Given the description of an element on the screen output the (x, y) to click on. 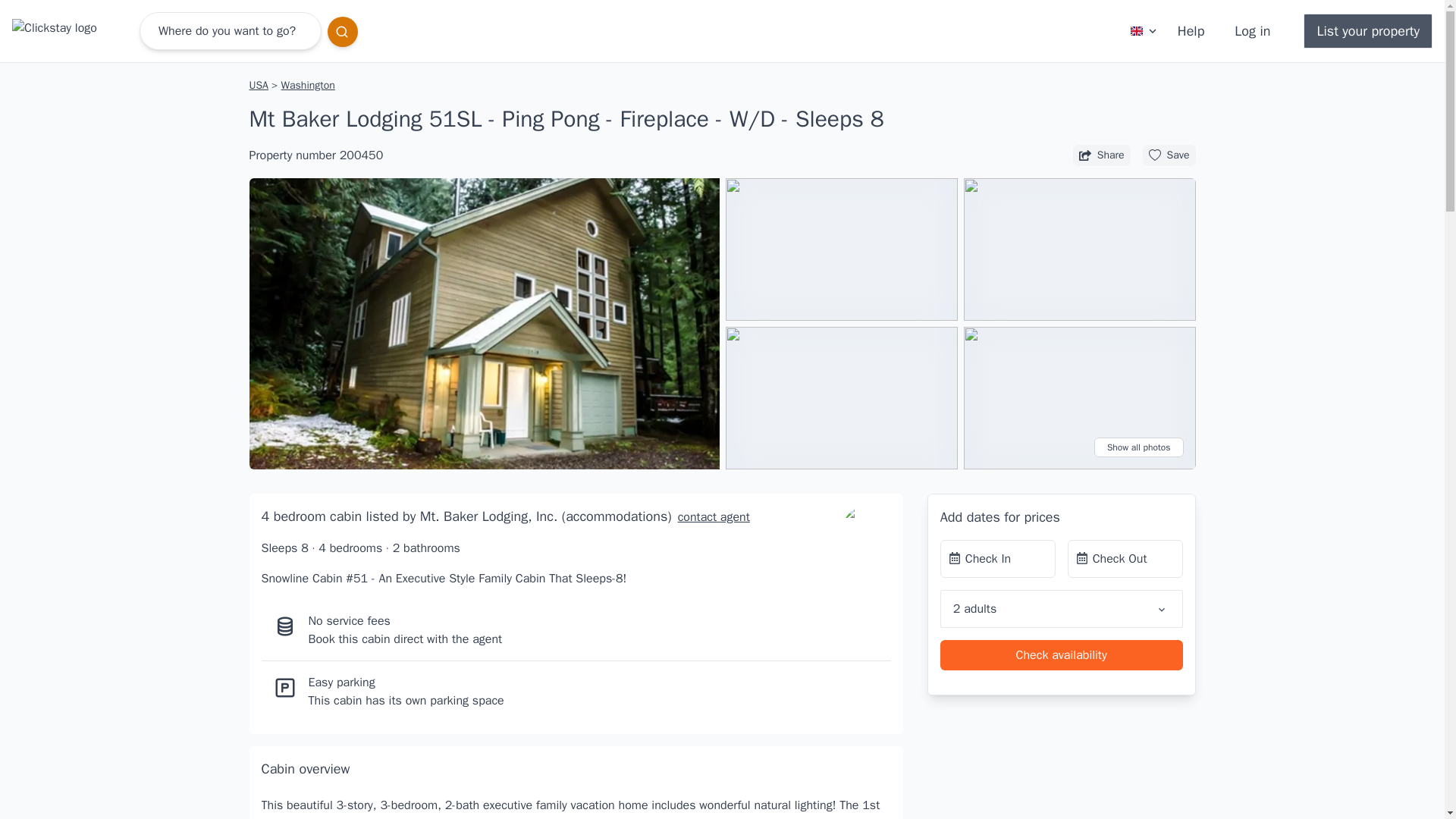
Check Out (1124, 558)
Search (342, 31)
USA (259, 84)
Check In (997, 558)
contact agent (710, 516)
List your property (1367, 30)
Washington (307, 84)
Log in (1252, 30)
Help (1191, 30)
